Given the description of an element on the screen output the (x, y) to click on. 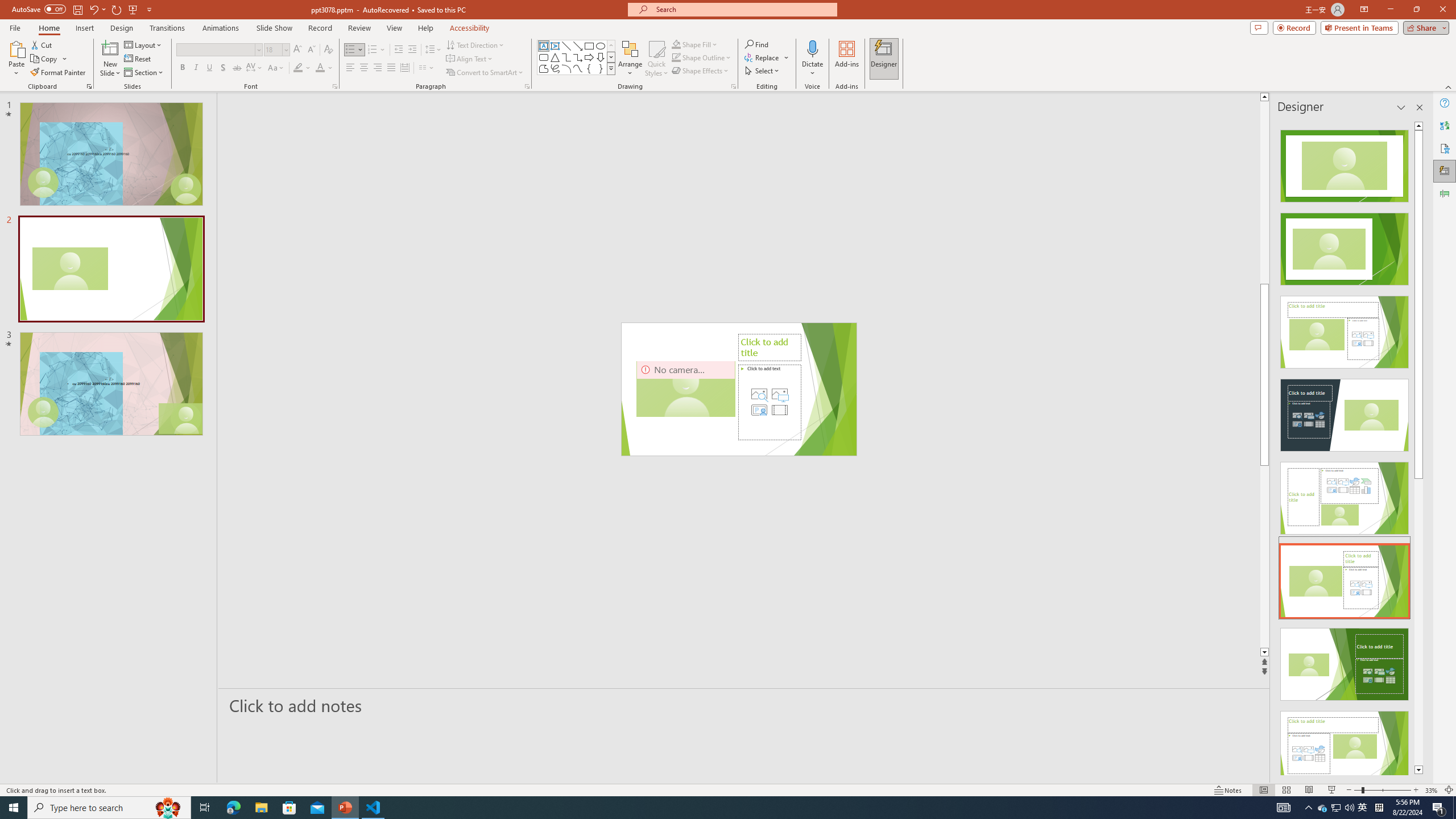
Insert Cameo (758, 409)
